Given the description of an element on the screen output the (x, y) to click on. 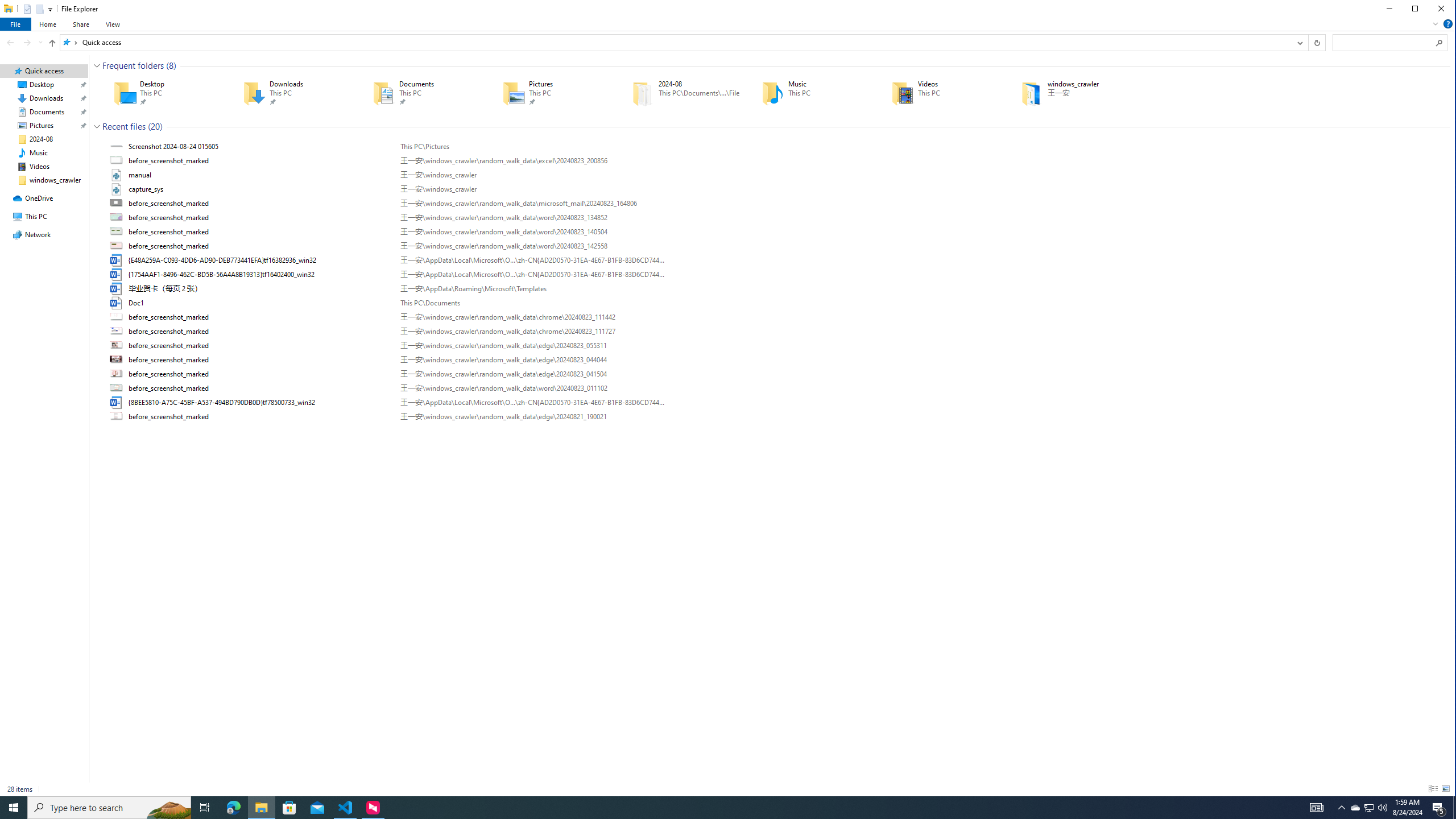
Help (1447, 24)
Path (532, 416)
Collapse Group (97, 126)
Minimize (1388, 9)
Address: Quick access (675, 42)
Quick access (101, 42)
Quick Access Toolbar (33, 8)
Customize Quick Access Toolbar (49, 8)
Navigation buttons (23, 42)
New folder (39, 8)
Videos (939, 93)
